Given the description of an element on the screen output the (x, y) to click on. 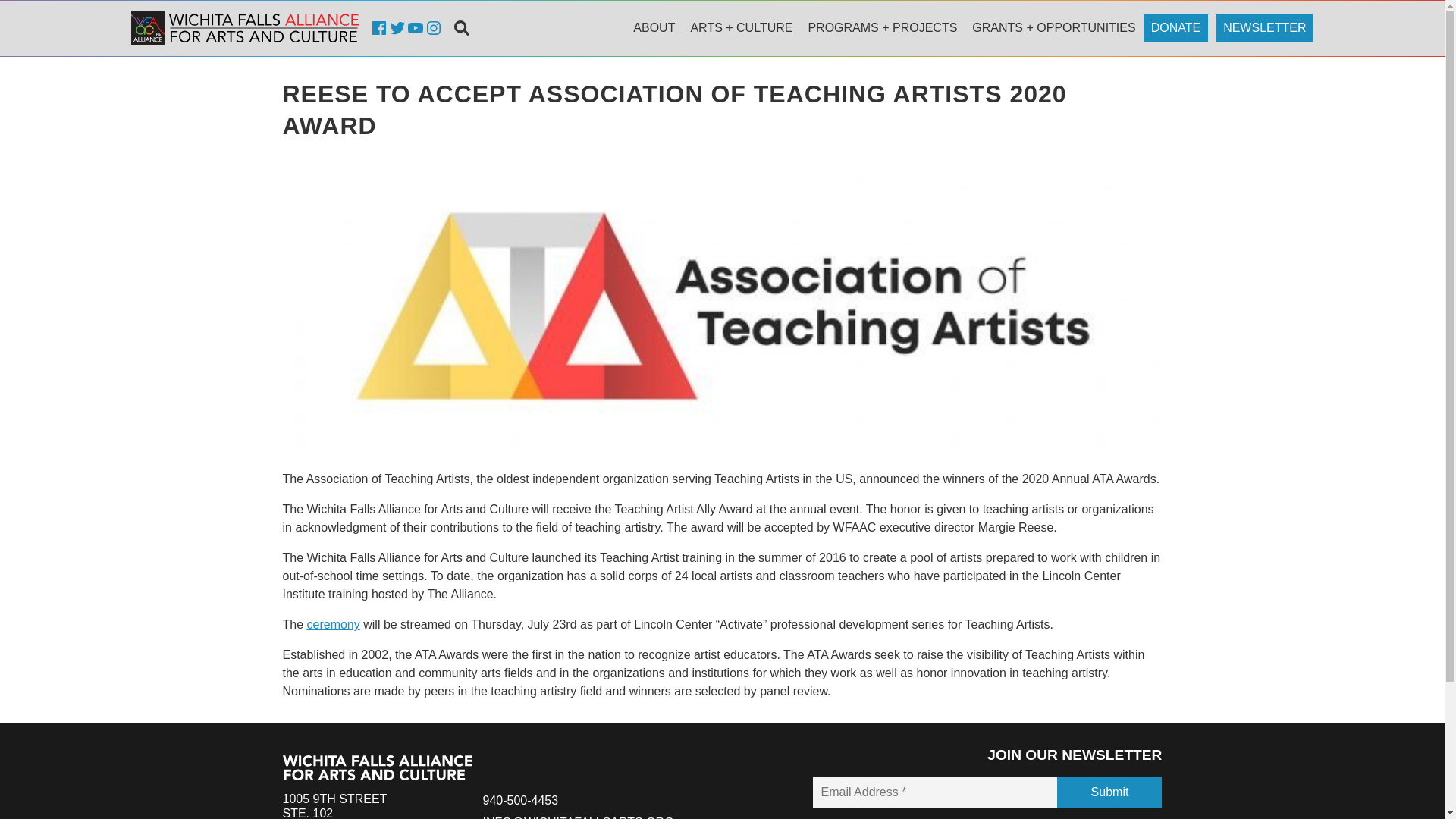
ABOUT (654, 27)
Calendar (740, 27)
Submit (356, 805)
Programs (1109, 792)
Get Directions (881, 27)
NEWSLETTER (356, 805)
ceremony (1264, 27)
About (333, 624)
940-500-4453 (654, 27)
DONATE (519, 799)
Donate (1175, 27)
Newsletter (1175, 27)
Wichita Falls Alliance for Arts and Culture (1264, 27)
Go (244, 28)
